Given the description of an element on the screen output the (x, y) to click on. 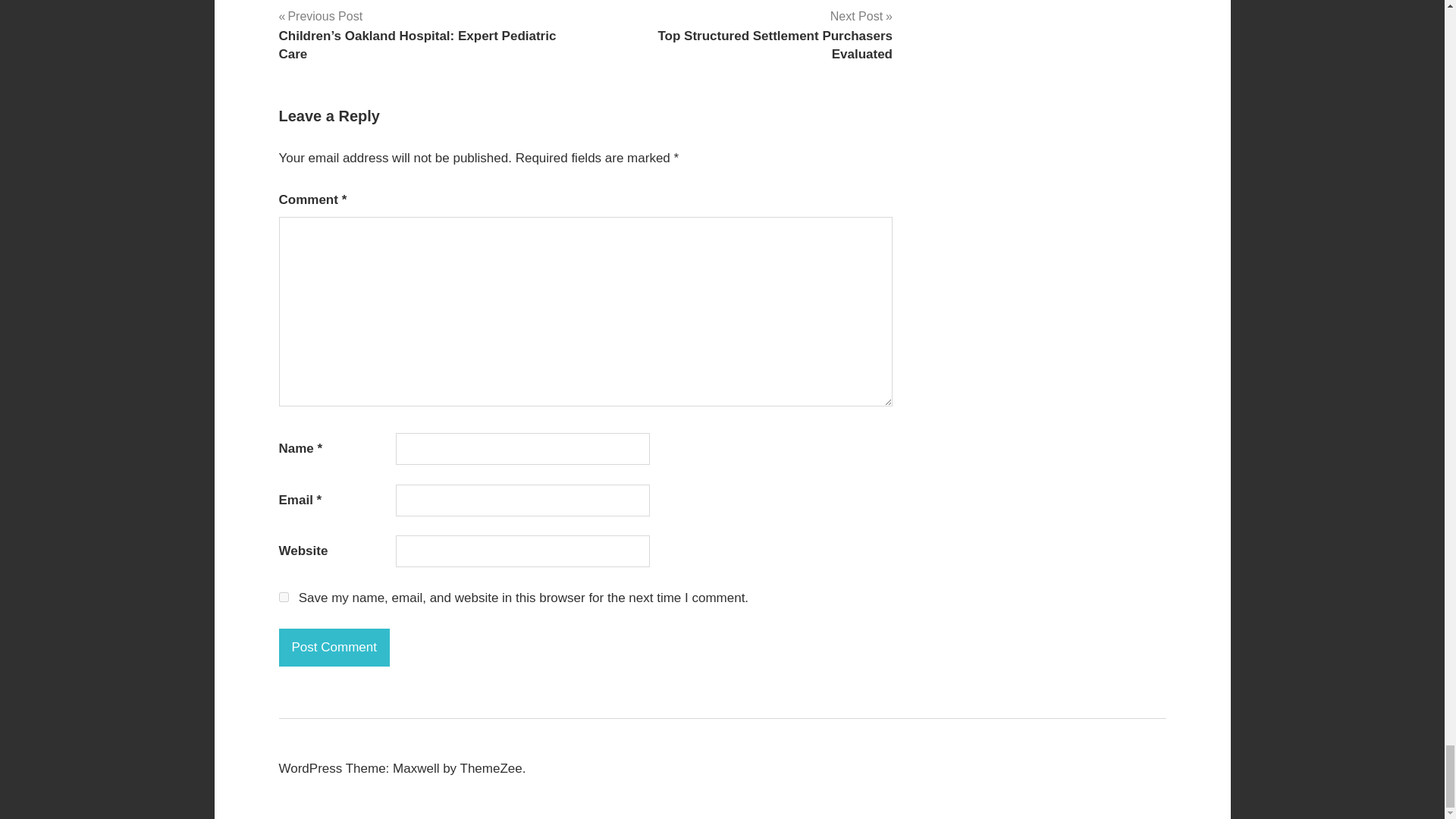
Post Comment (334, 647)
Post Comment (744, 34)
yes (334, 647)
